Given the description of an element on the screen output the (x, y) to click on. 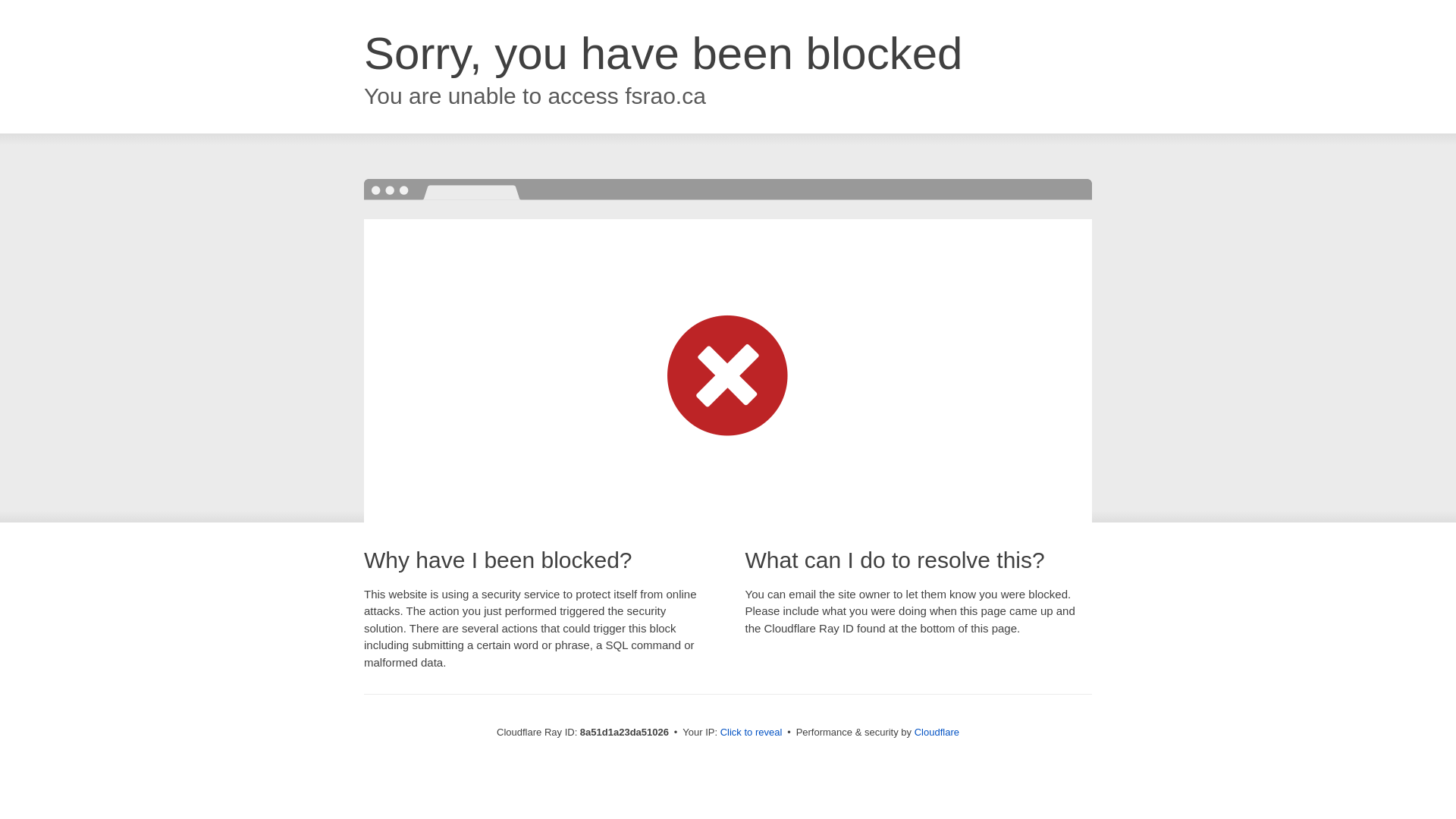
Cloudflare (936, 731)
Click to reveal (751, 732)
